Given the description of an element on the screen output the (x, y) to click on. 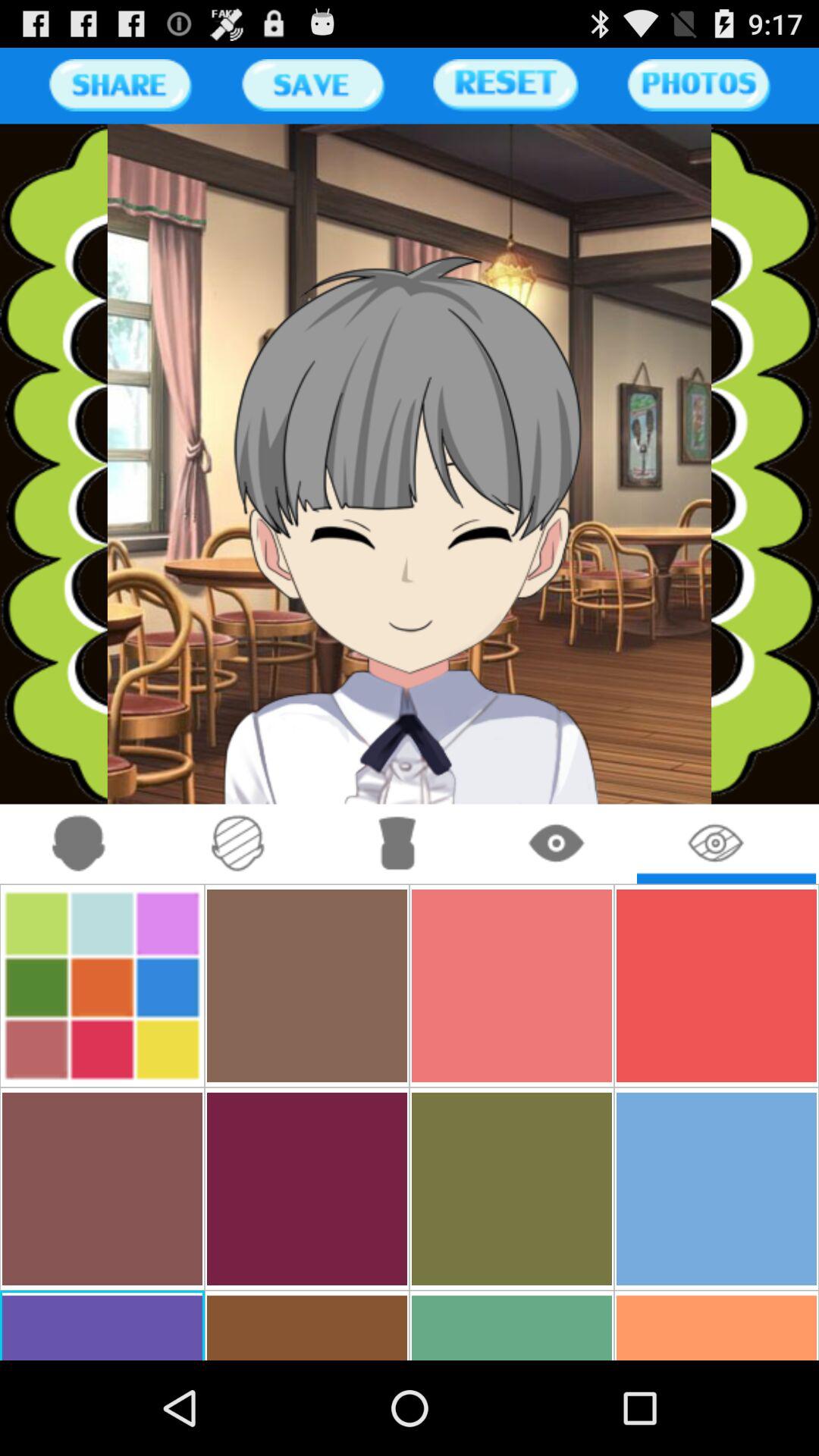
photos (698, 85)
